Given the description of an element on the screen output the (x, y) to click on. 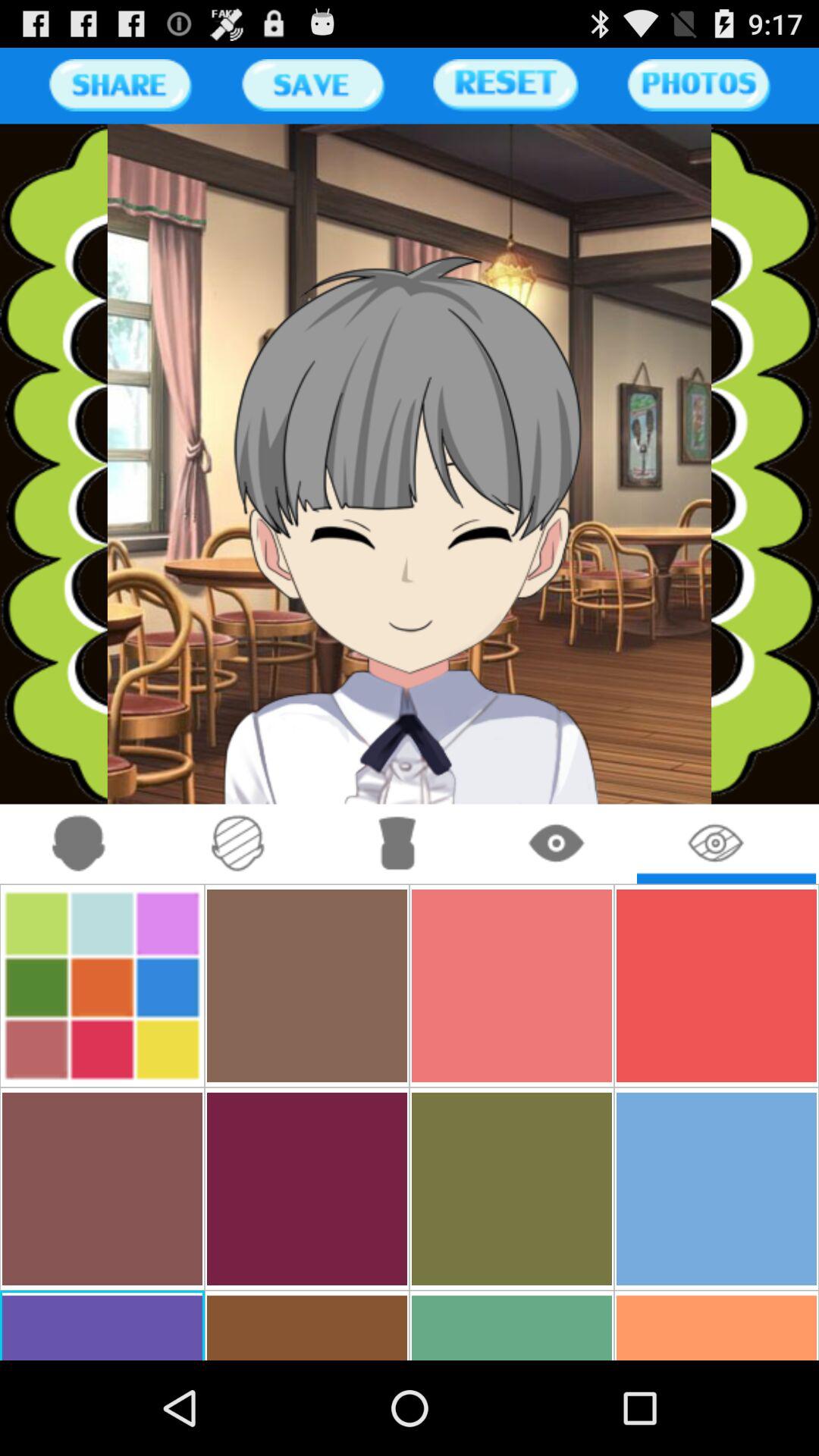
photos (698, 85)
